Given the description of an element on the screen output the (x, y) to click on. 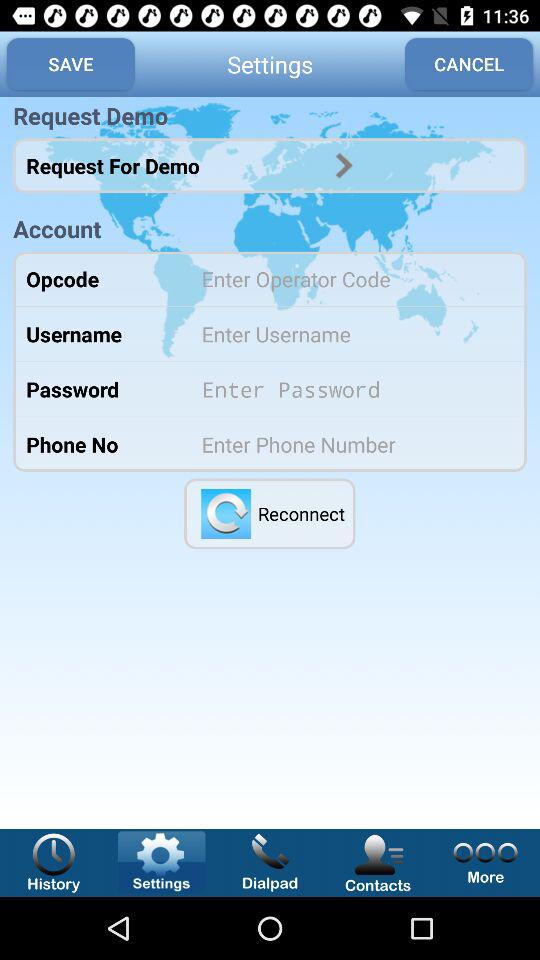
insert phone number (350, 444)
